Given the description of an element on the screen output the (x, y) to click on. 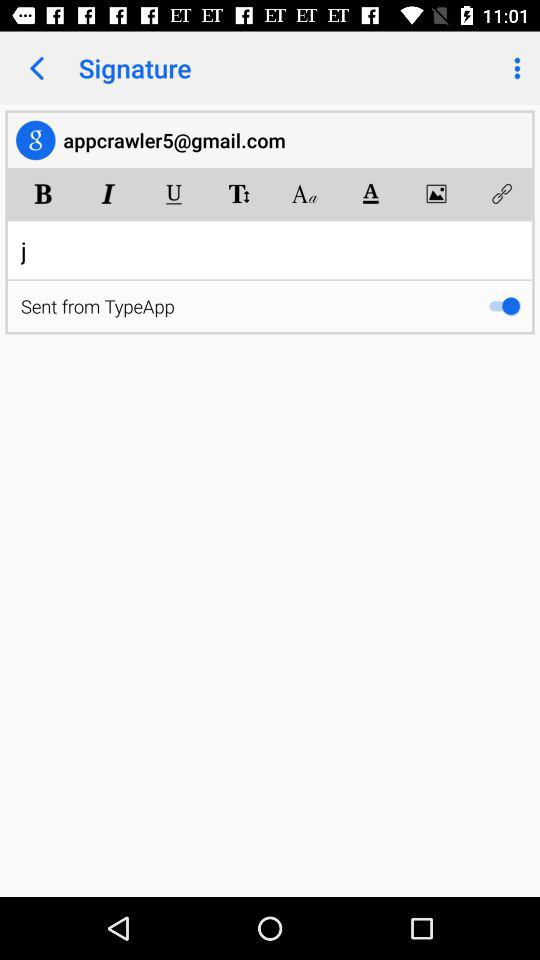
select the app below the appcrawler5@gmail.com item (173, 194)
